Given the description of an element on the screen output the (x, y) to click on. 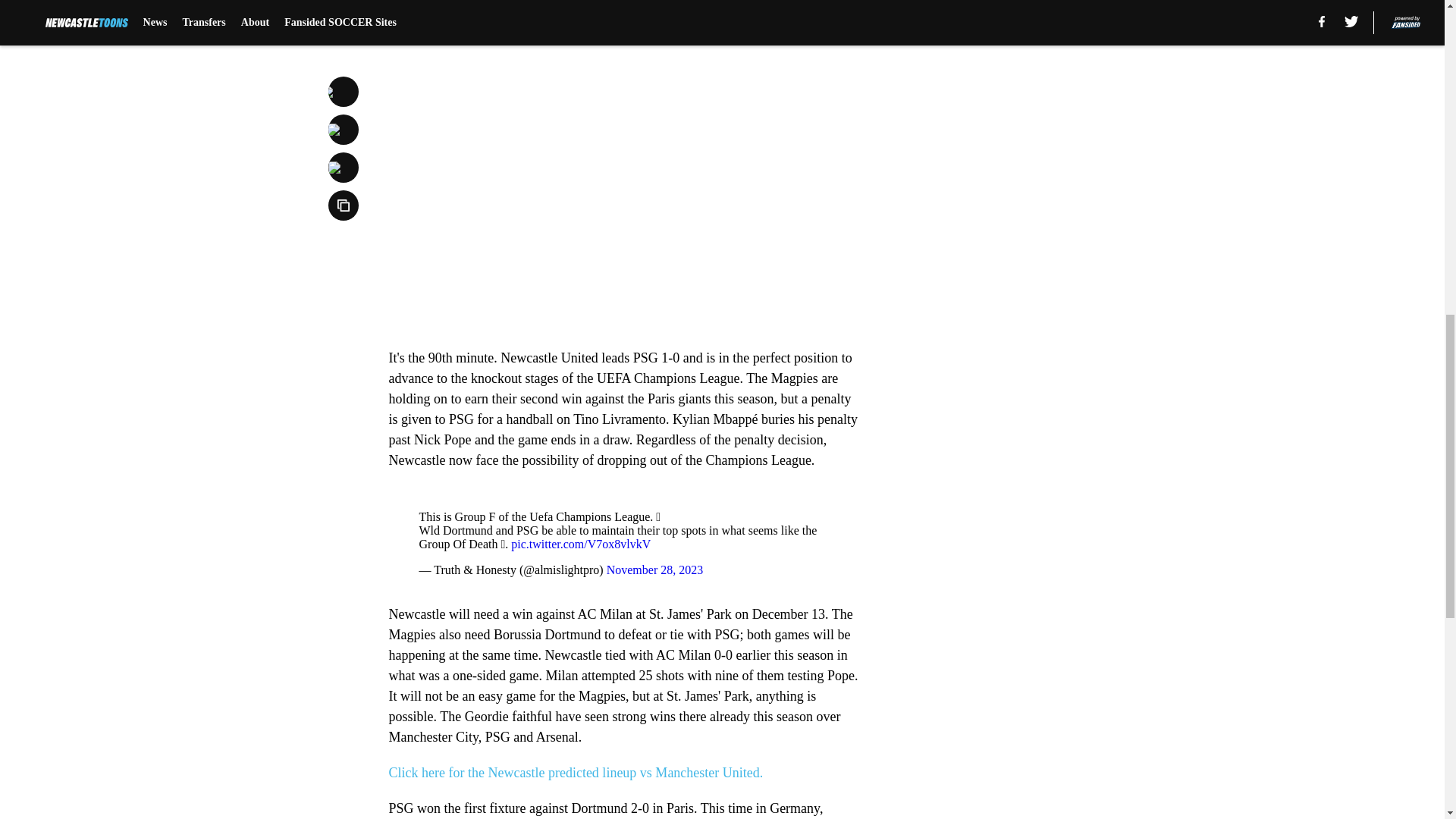
November 28, 2023 (655, 569)
